Given the description of an element on the screen output the (x, y) to click on. 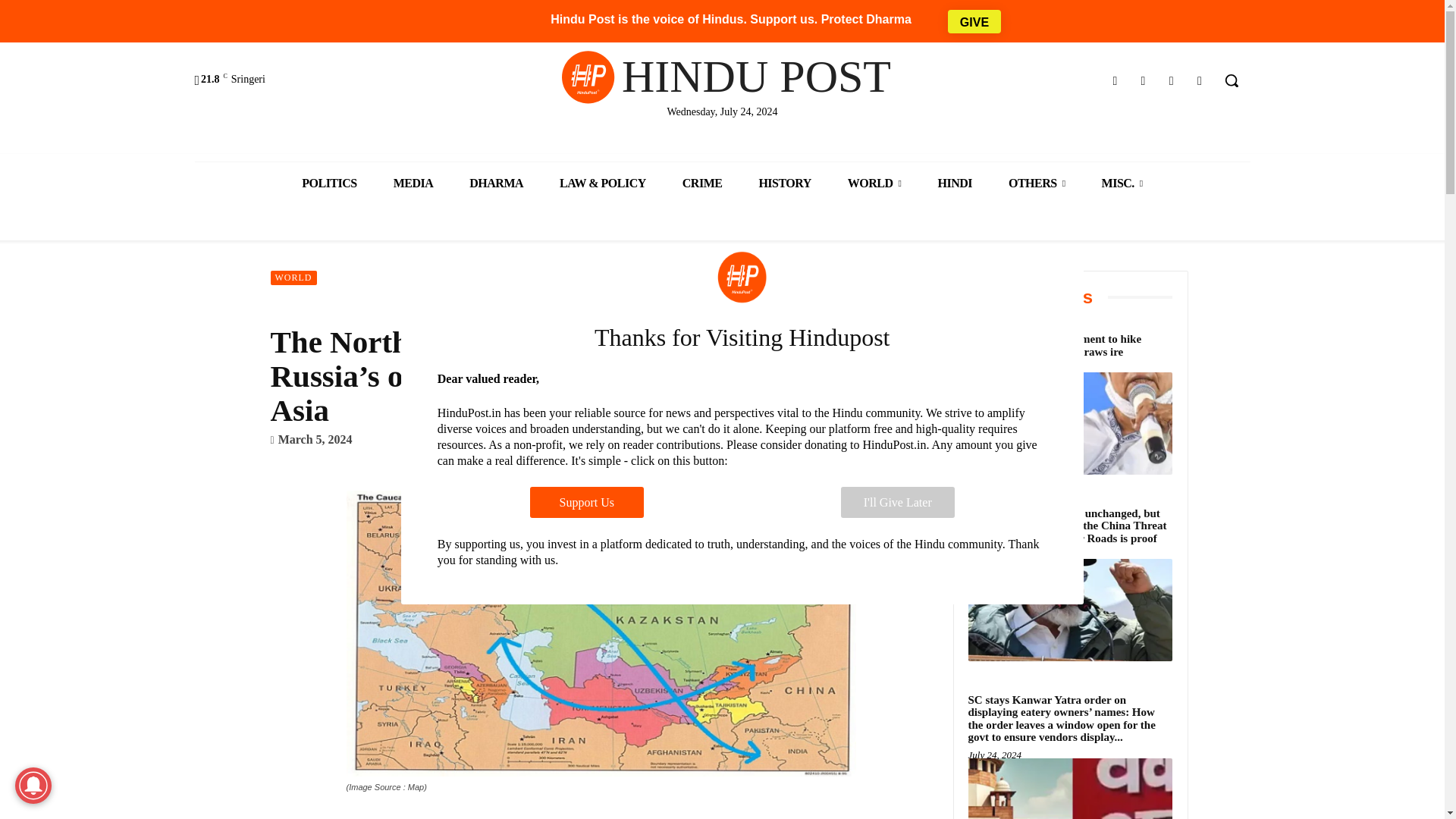
Facebook (1115, 80)
HINDU POST (721, 76)
Instagram (1142, 80)
Hindu Post (721, 76)
GIVE (974, 20)
